Given the description of an element on the screen output the (x, y) to click on. 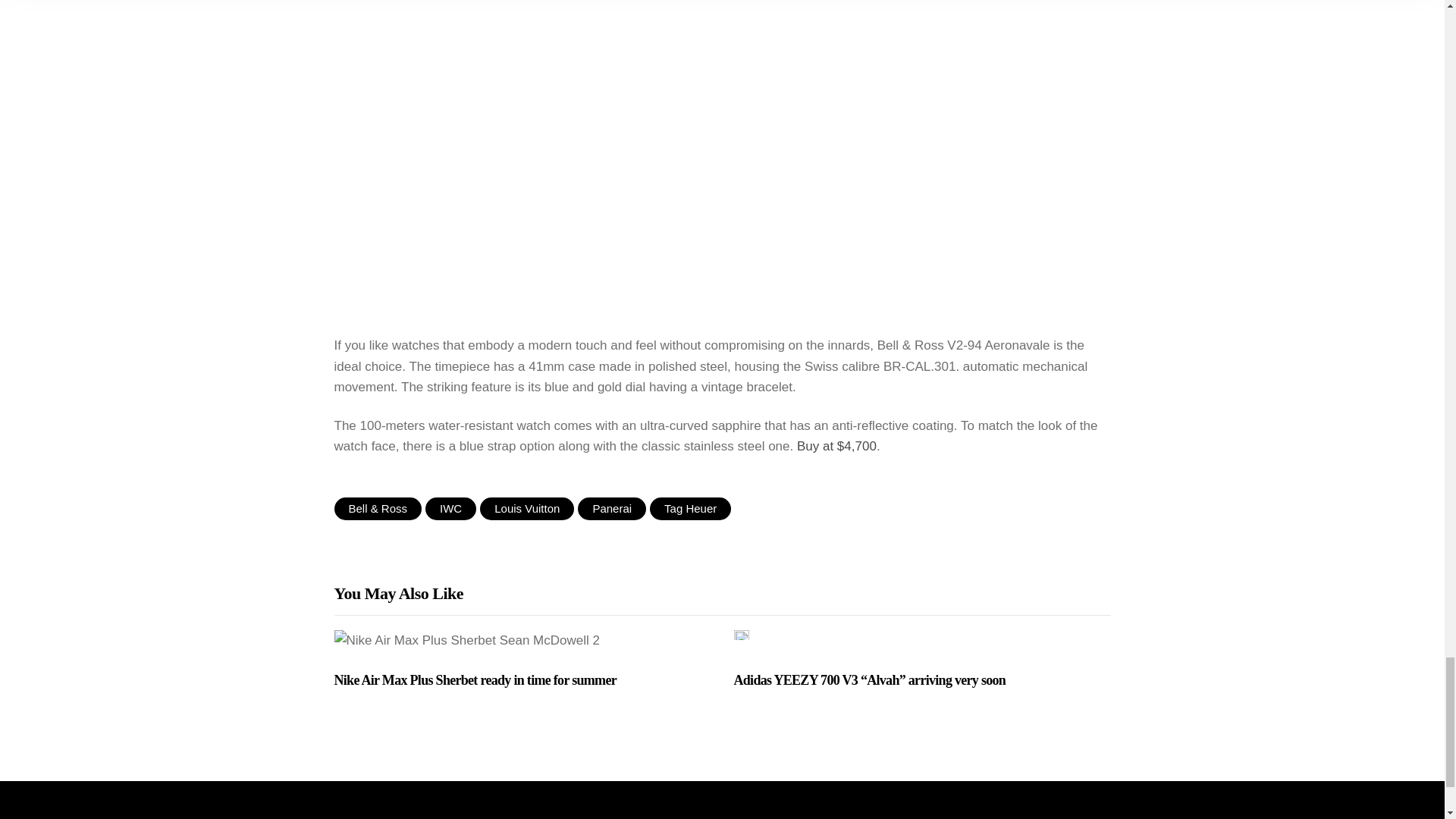
Tag Heuer (689, 508)
Nike Air Max Plus Sherbet ready in time for summer (521, 680)
Louis Vuitton (526, 508)
Panerai (612, 508)
About (528, 816)
IWC (450, 508)
